Given the description of an element on the screen output the (x, y) to click on. 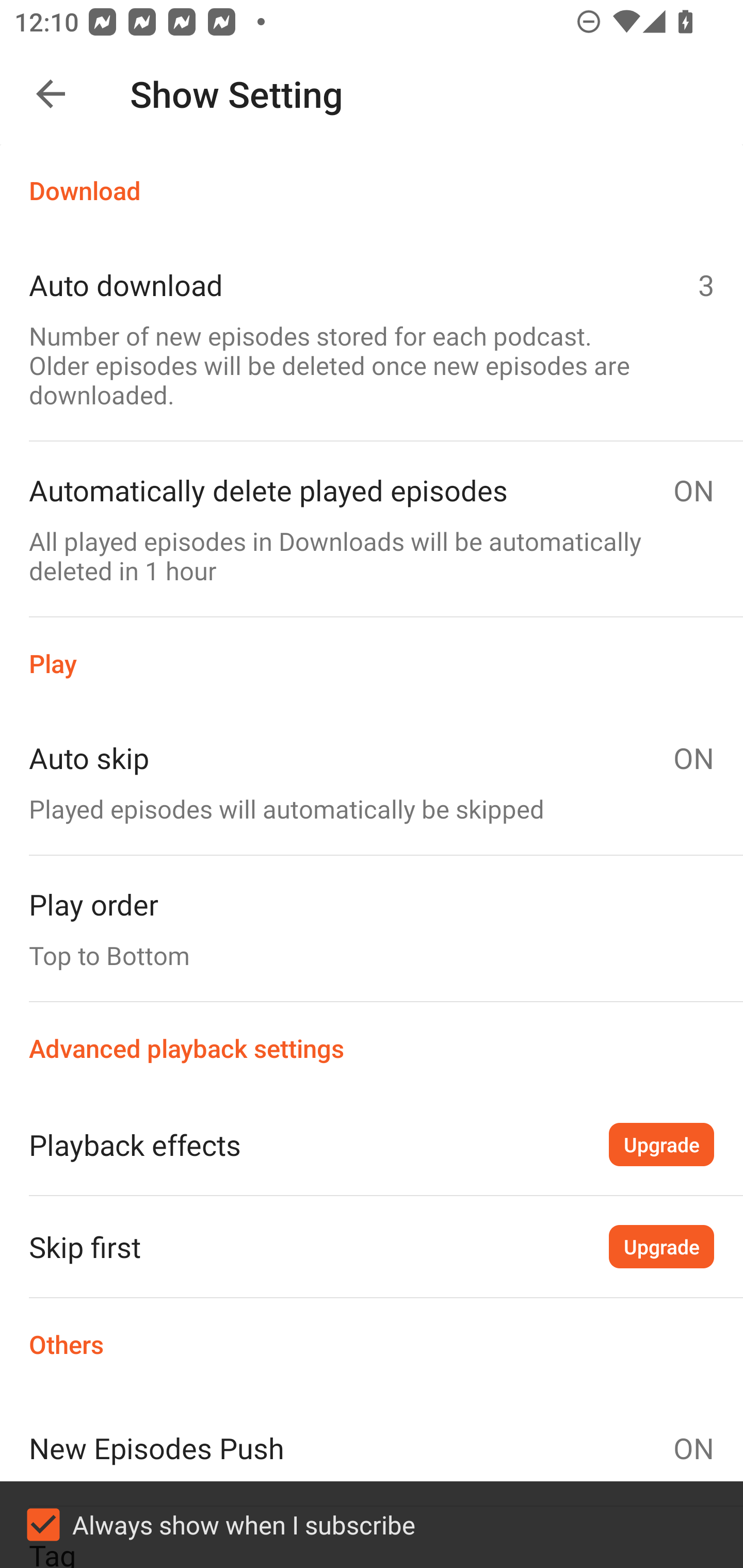
Navigate up (50, 93)
Play order Top to Bottom (371, 928)
Playback effects Upgrade (371, 1144)
Skip first Upgrade (371, 1246)
New Episodes Push ON (371, 1447)
Always show when I subscribe (371, 1524)
